Given the description of an element on the screen output the (x, y) to click on. 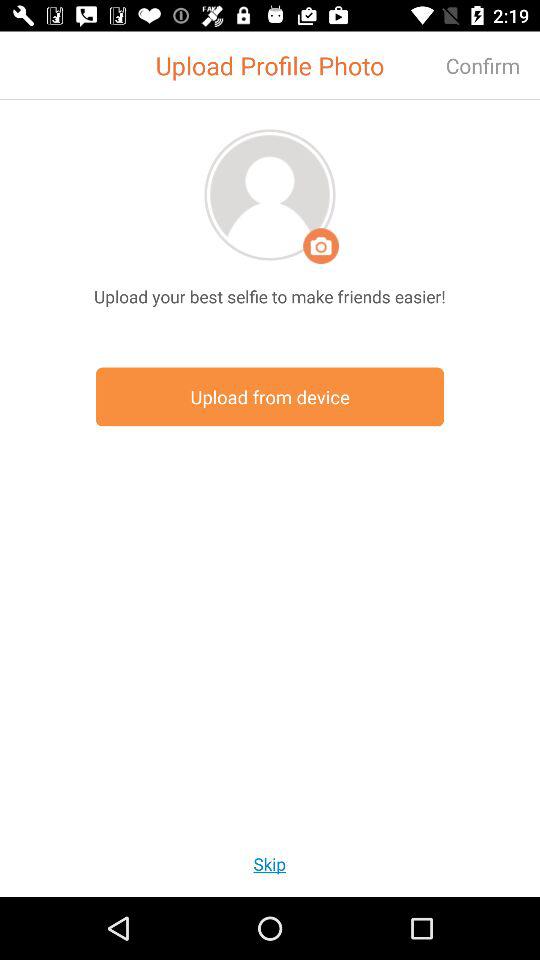
press item above skip item (270, 396)
